Given the description of an element on the screen output the (x, y) to click on. 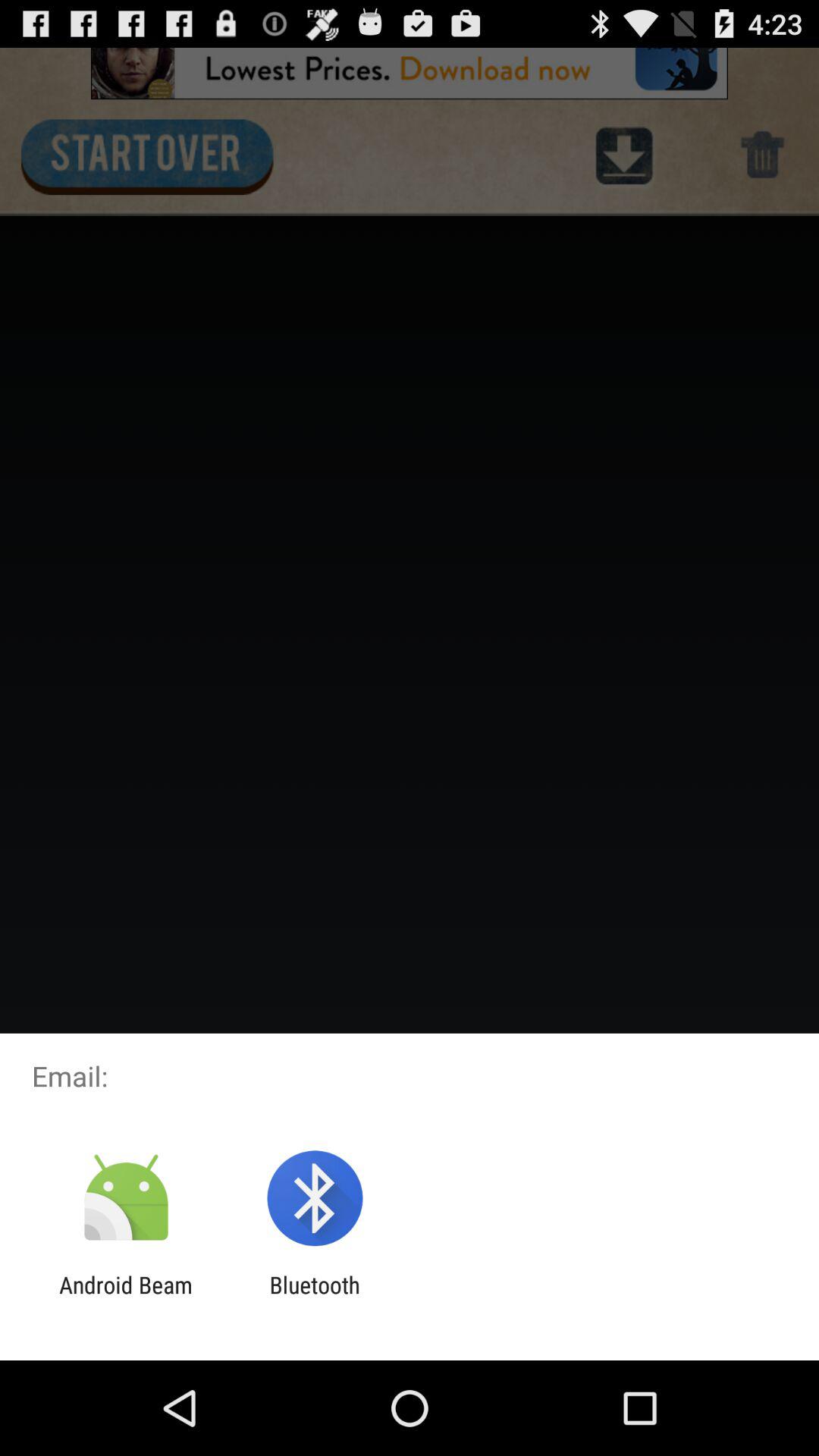
turn on the bluetooth app (314, 1298)
